Given the description of an element on the screen output the (x, y) to click on. 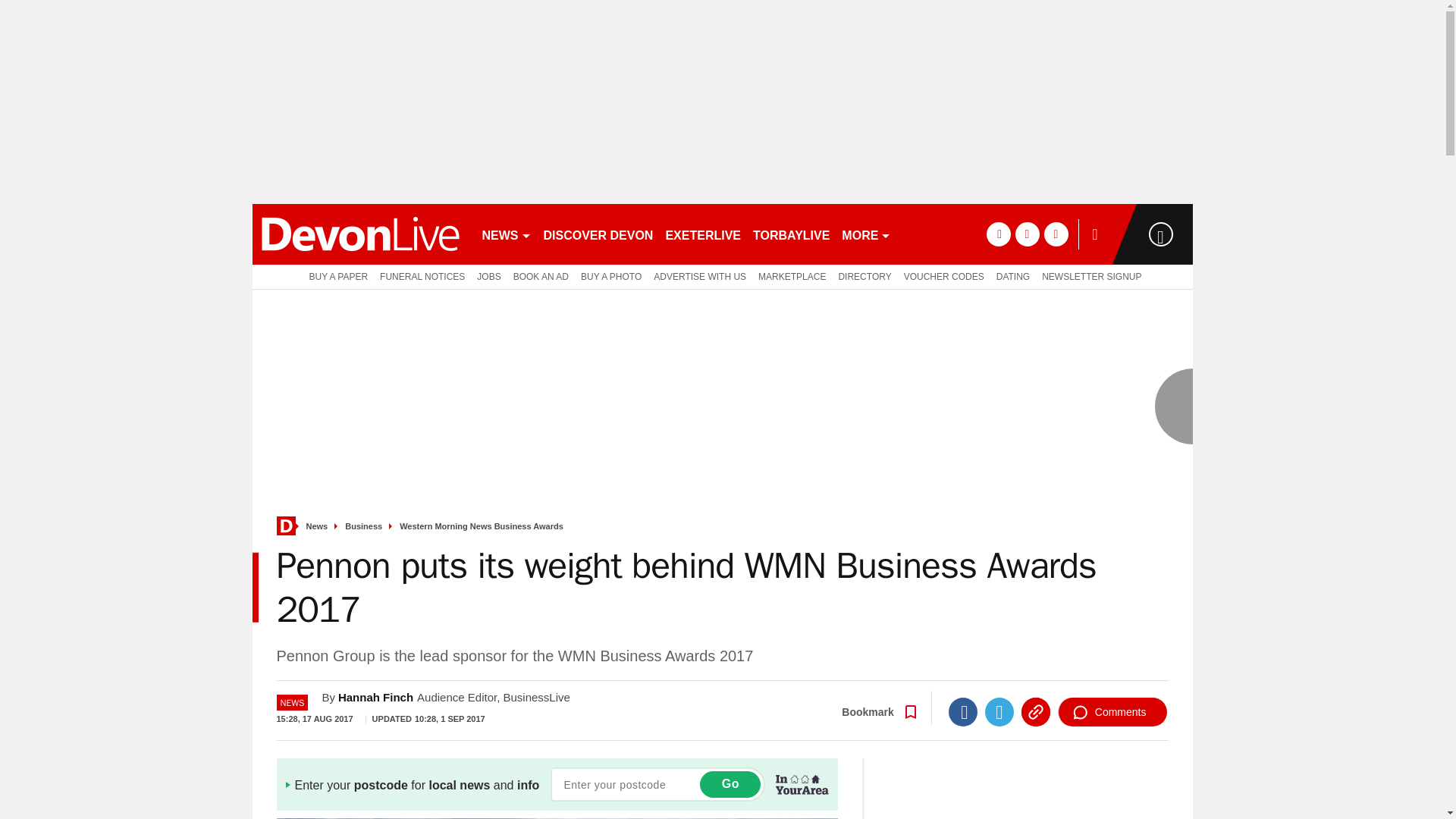
TORBAYLIVE (790, 233)
Go (730, 784)
NEWS (506, 233)
Twitter (999, 711)
DISCOVER DEVON (598, 233)
Comments (1112, 711)
Facebook (962, 711)
instagram (1055, 233)
facebook (997, 233)
twitter (1026, 233)
